Given the description of an element on the screen output the (x, y) to click on. 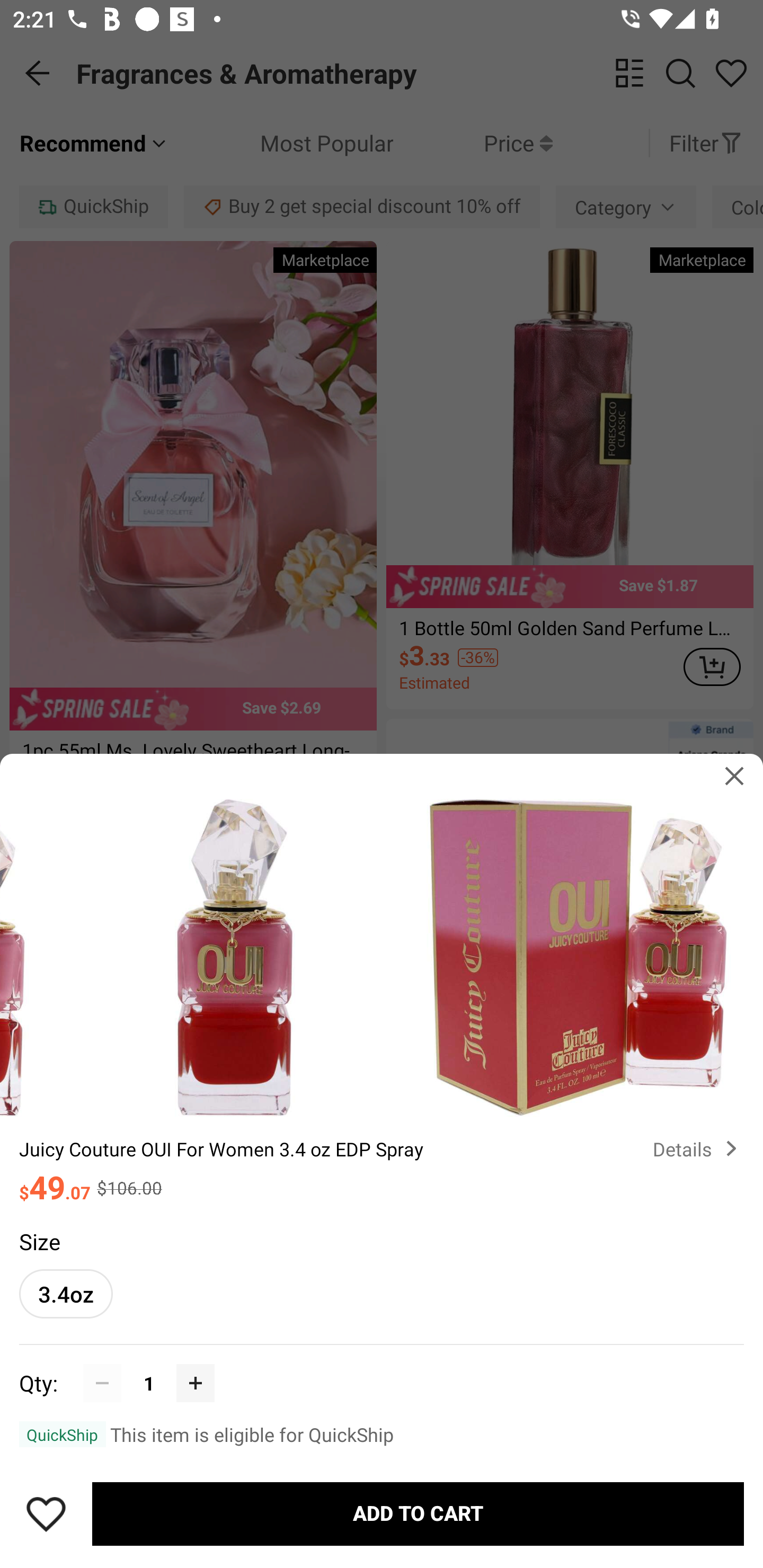
Details (698, 1148)
Size (39, 1240)
3.4oz 3.4ozunselected option (65, 1293)
ADD TO CART (417, 1513)
Save (46, 1513)
